Given the description of an element on the screen output the (x, y) to click on. 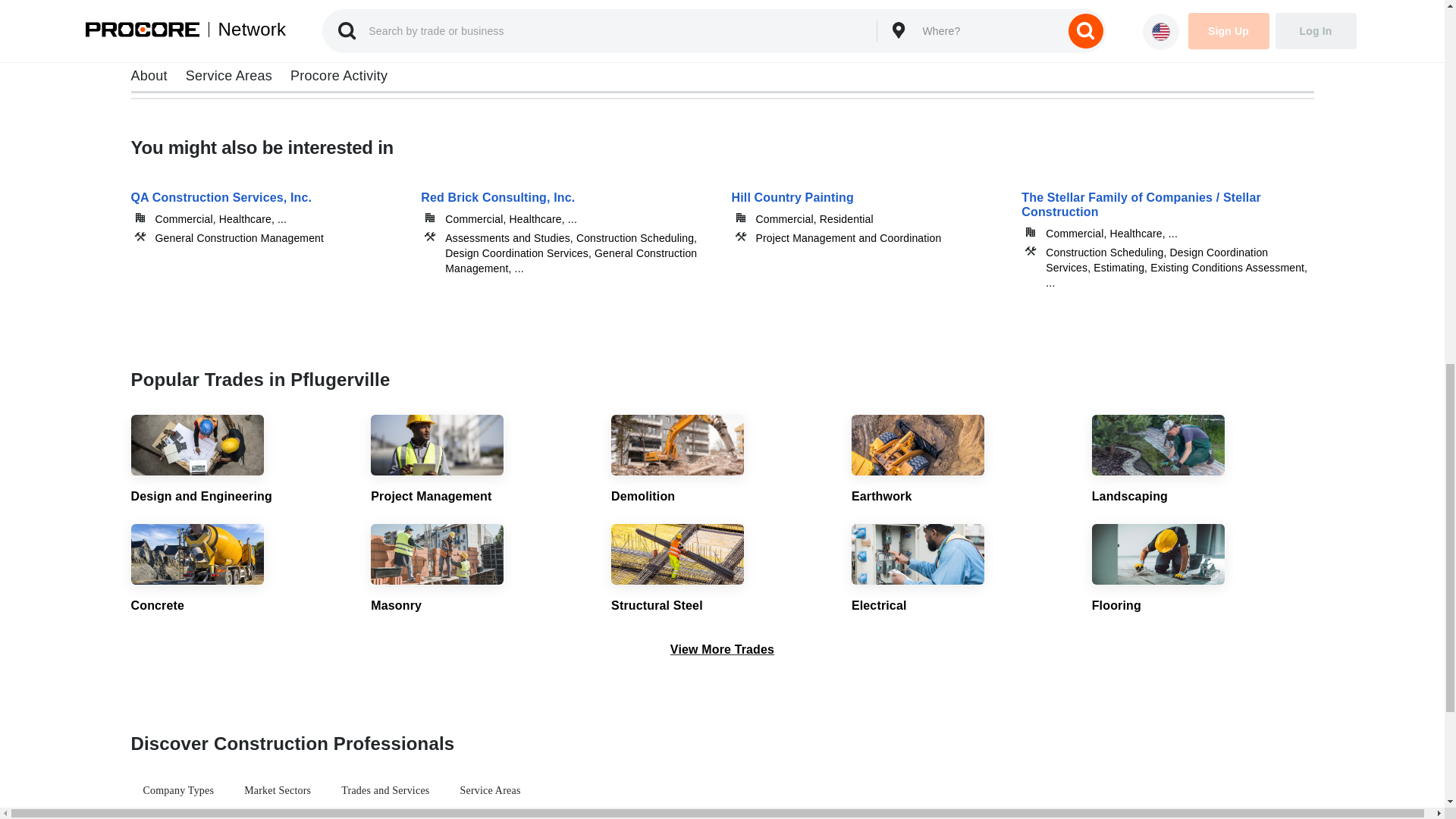
Structural Steel (721, 569)
Learn more (212, 34)
Red Brick Consulting, Inc. (566, 228)
Masonry (481, 569)
Trades and Services (385, 791)
View More Trades (722, 649)
QA Construction Services, Inc. (267, 228)
Earthwork (962, 460)
Project Management (481, 460)
Landscaping (1203, 460)
